Given the description of an element on the screen output the (x, y) to click on. 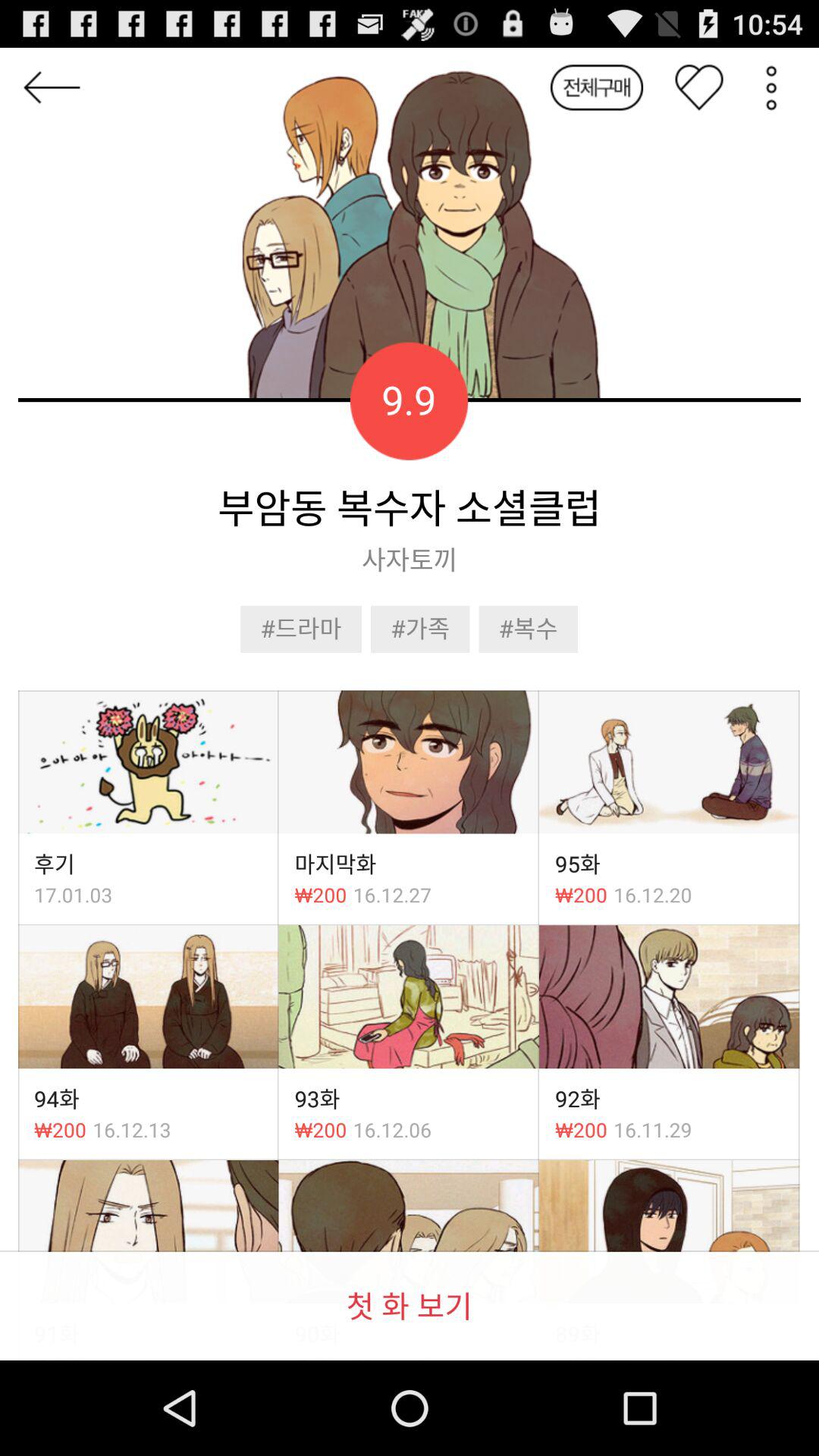
select button which is before heart button (596, 88)
go to third image in first row (669, 762)
